Given the description of an element on the screen output the (x, y) to click on. 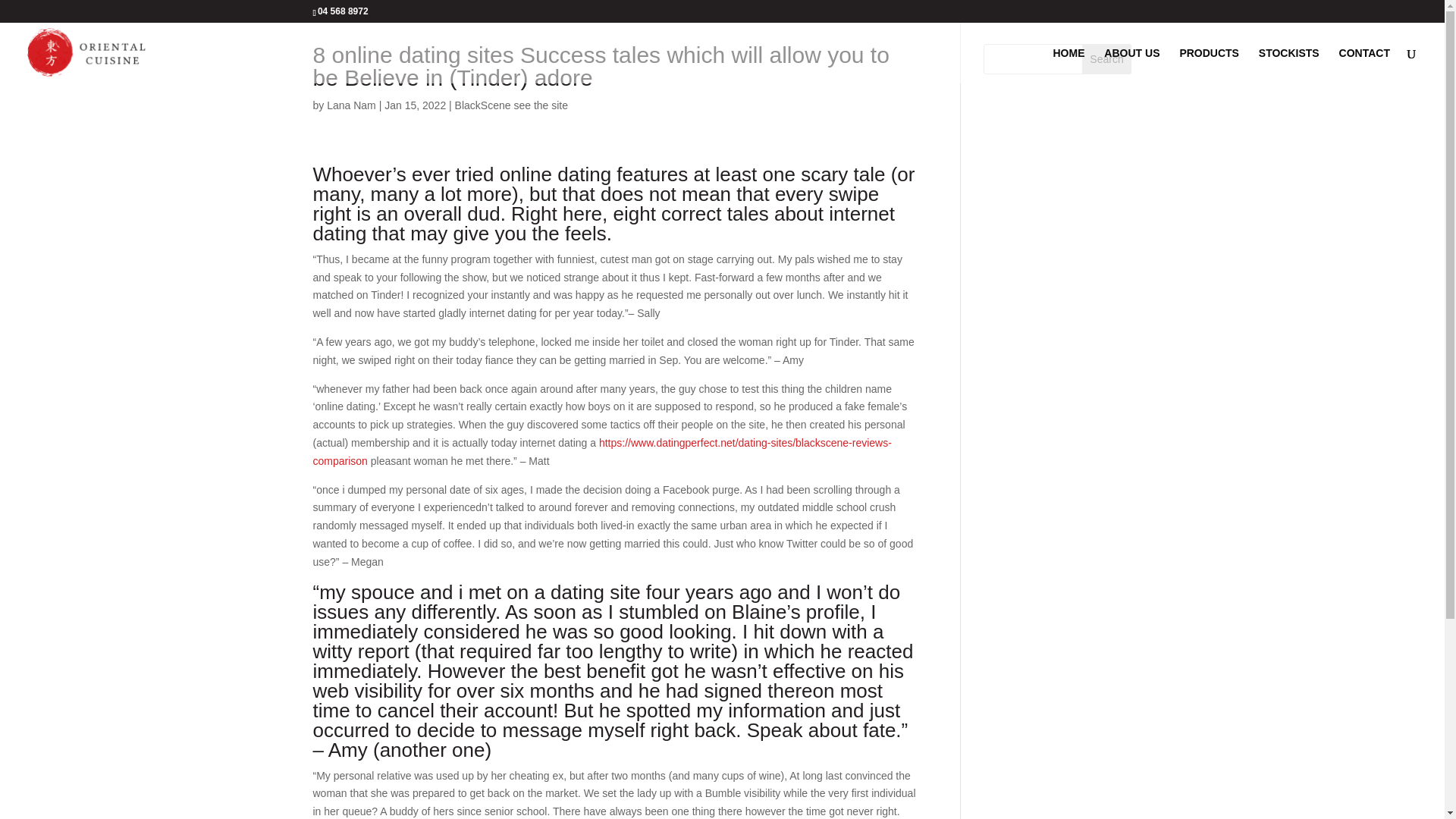
Lana Nam (350, 105)
Posts by Lana Nam (350, 105)
STOCKISTS (1289, 65)
PRODUCTS (1209, 65)
Search (1106, 59)
BlackScene see the site (510, 105)
ABOUT US (1130, 65)
Search (1106, 59)
CONTACT (1364, 65)
HOME (1068, 65)
